Given the description of an element on the screen output the (x, y) to click on. 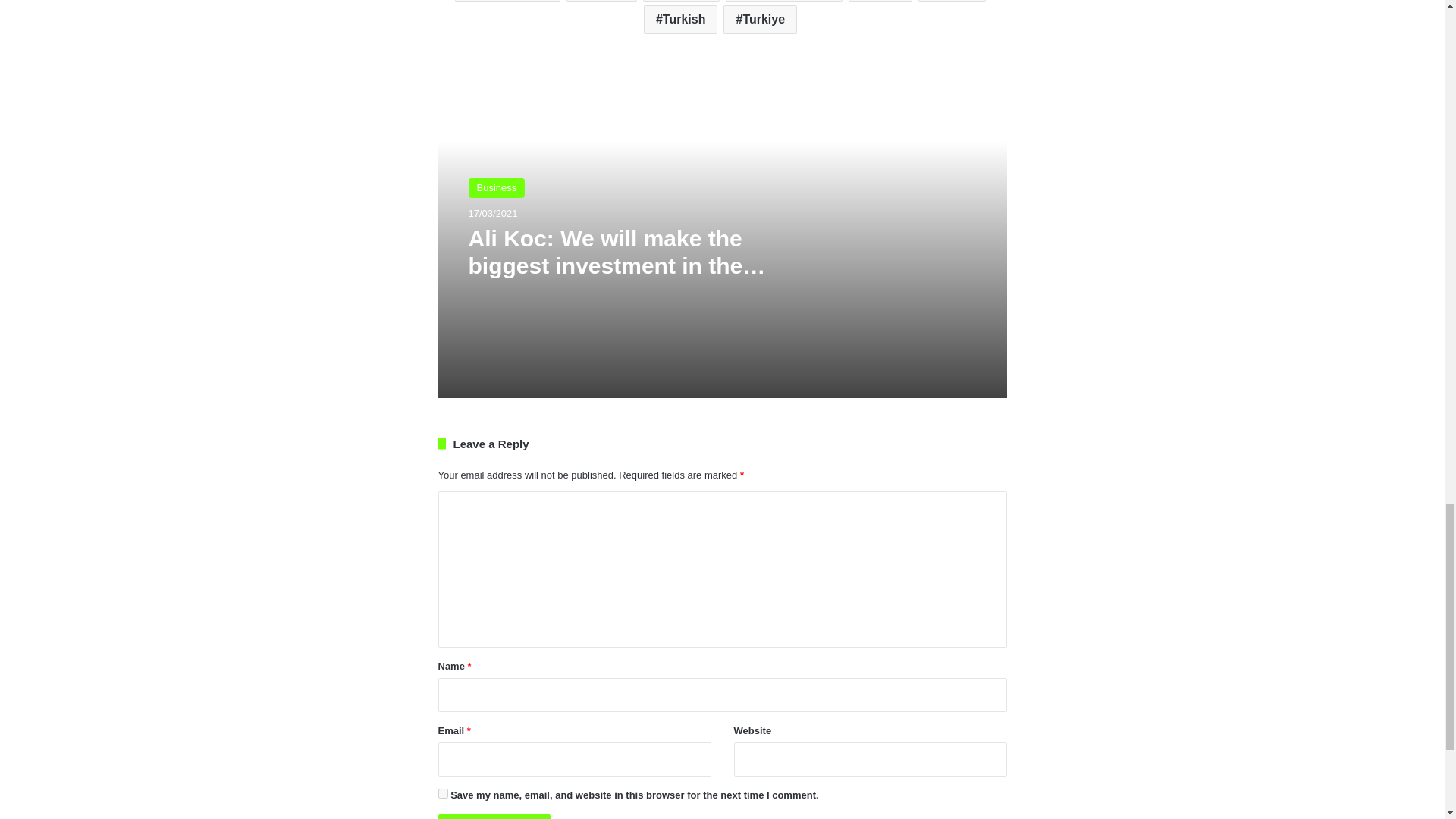
yes (443, 793)
Post Comment (494, 816)
